Given the description of an element on the screen output the (x, y) to click on. 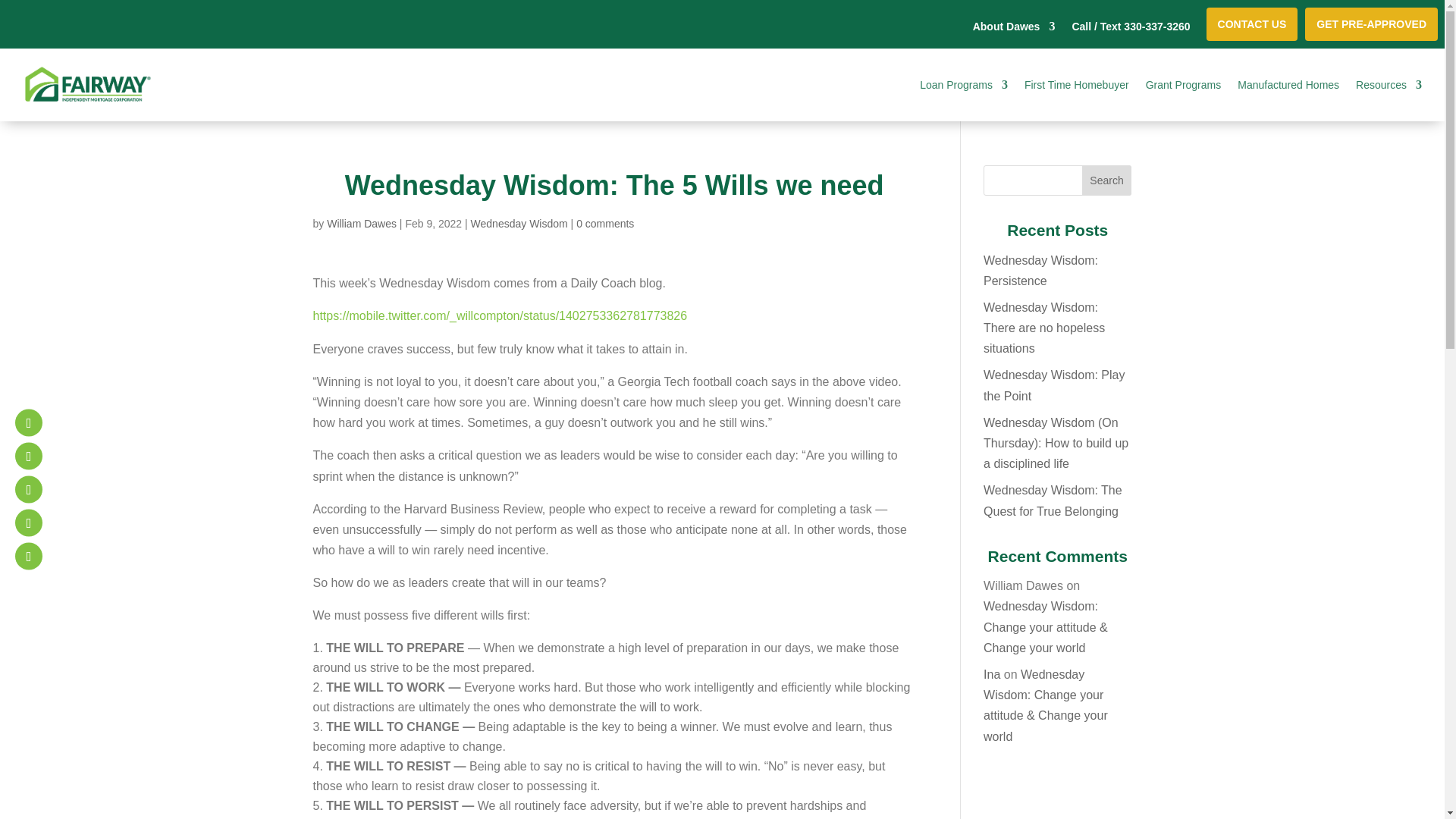
Loan Programs (963, 84)
Manufactured Homes (1288, 84)
Follow on Yelp (28, 523)
Follow on Google (28, 556)
Search (1106, 180)
Posts by William Dawes (361, 223)
GET PRE-APPROVED (1371, 23)
CONTACT US (1252, 23)
Resources (1388, 84)
Follow on Facebook (28, 422)
Follow on Instagram (28, 456)
Follow on X (28, 489)
Grant Programs (1183, 84)
First Time Homebuyer (1077, 84)
About Dawes (1013, 34)
